Given the description of an element on the screen output the (x, y) to click on. 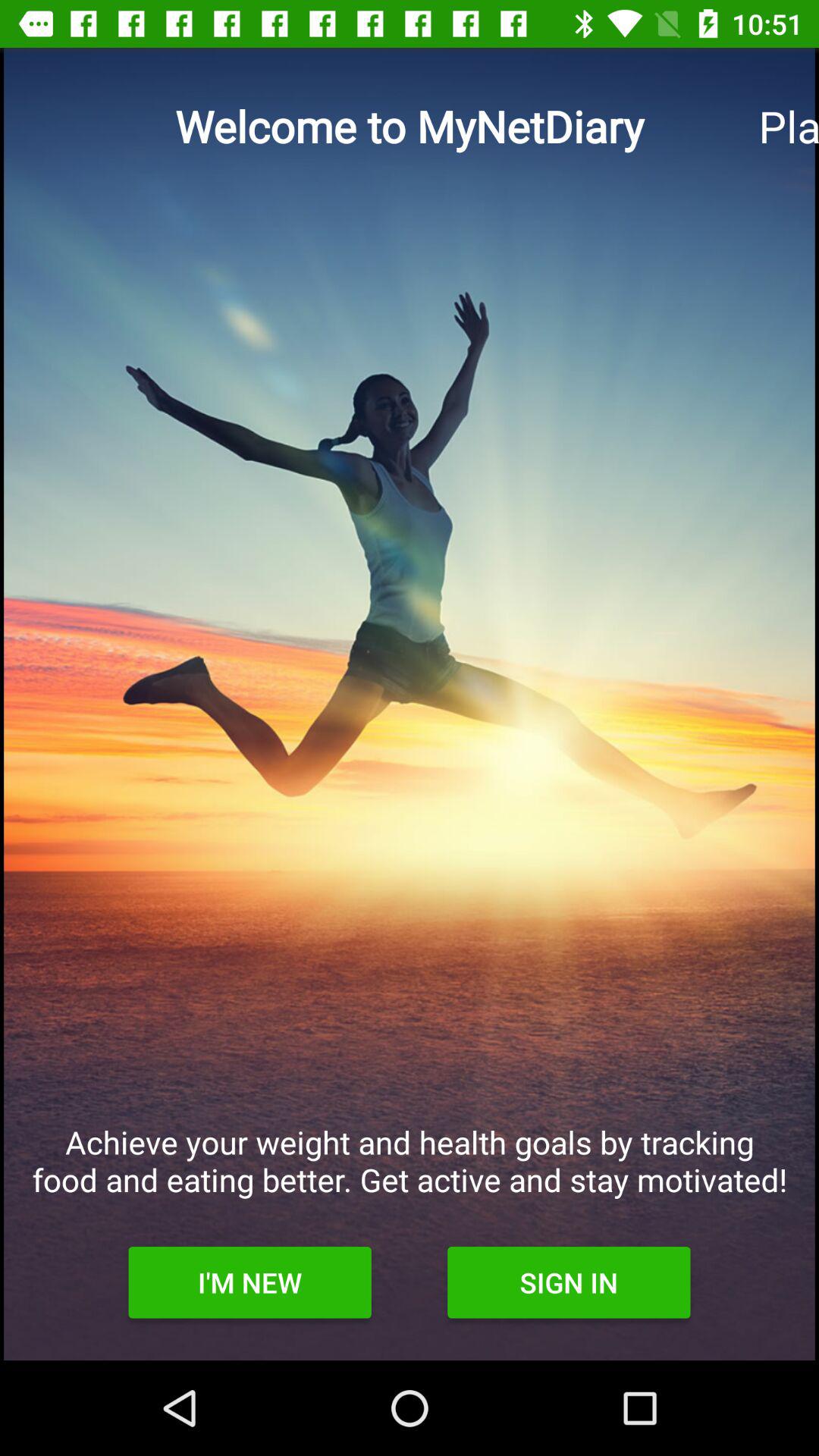
launch the icon next to the i'm new item (568, 1282)
